Given the description of an element on the screen output the (x, y) to click on. 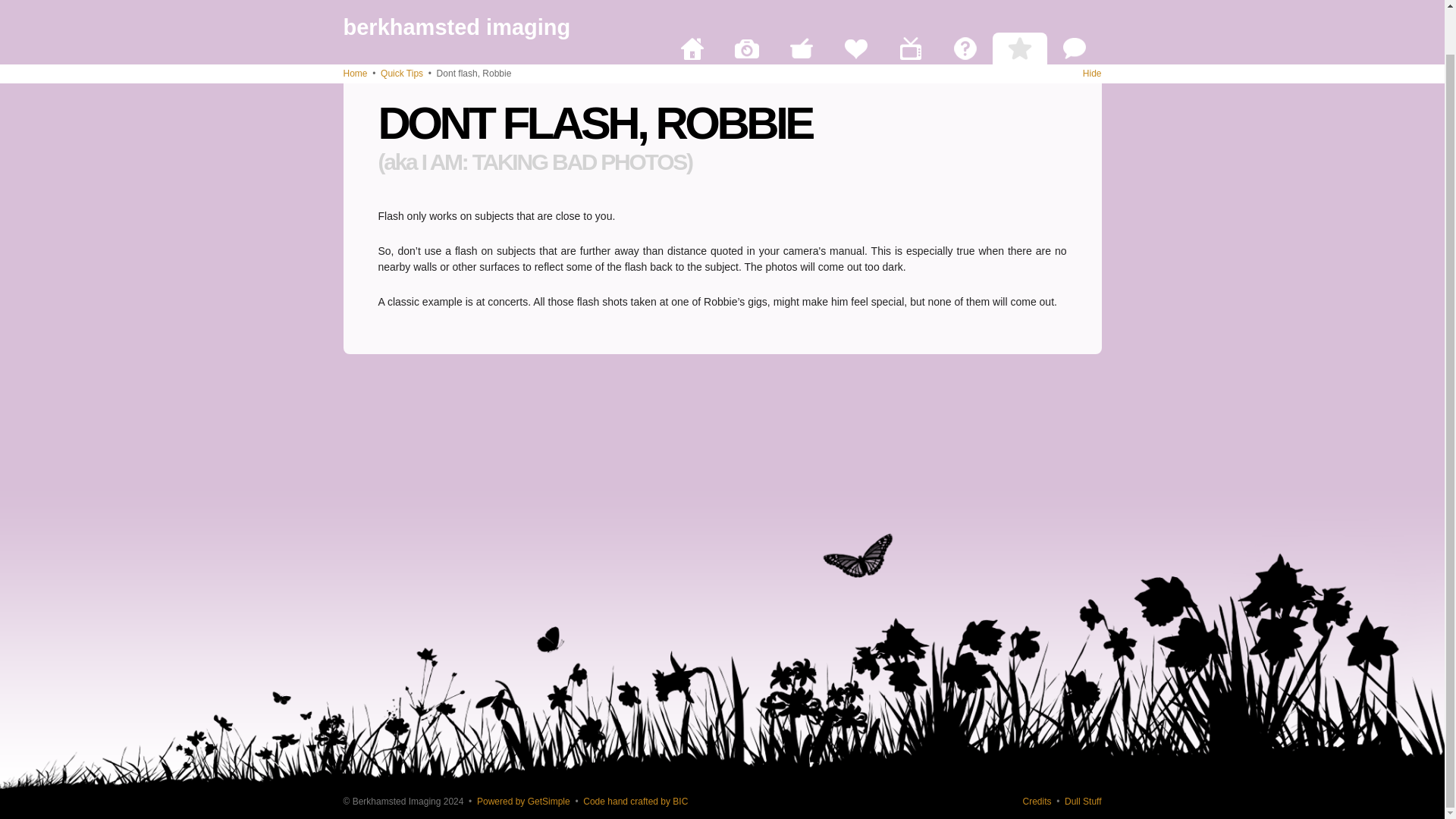
The "Things We Can Do To Help" bit. (855, 9)
Hide (1092, 26)
The "Sort of vaguely arty" bit. (909, 9)
Code hand crafted by BIC (635, 801)
Boldly going where lots of people already have (635, 801)
The "Soapbox and other mildly entertaining nonsense" bit. (1073, 9)
Powered by GetSimple (523, 801)
The "Home, sweet home" bit. (691, 9)
The "Get my photos printed" bit. (746, 9)
Dull Stuff (1082, 801)
Things you should care about, but probably don't (1082, 801)
The "Funky Photo Stuff" bit. (800, 9)
The "Tips, tricks and trade secrets" bit. (1018, 9)
Hide the navigation tabs (1092, 26)
Standing on the shoulders of giants (1036, 801)
